Given the description of an element on the screen output the (x, y) to click on. 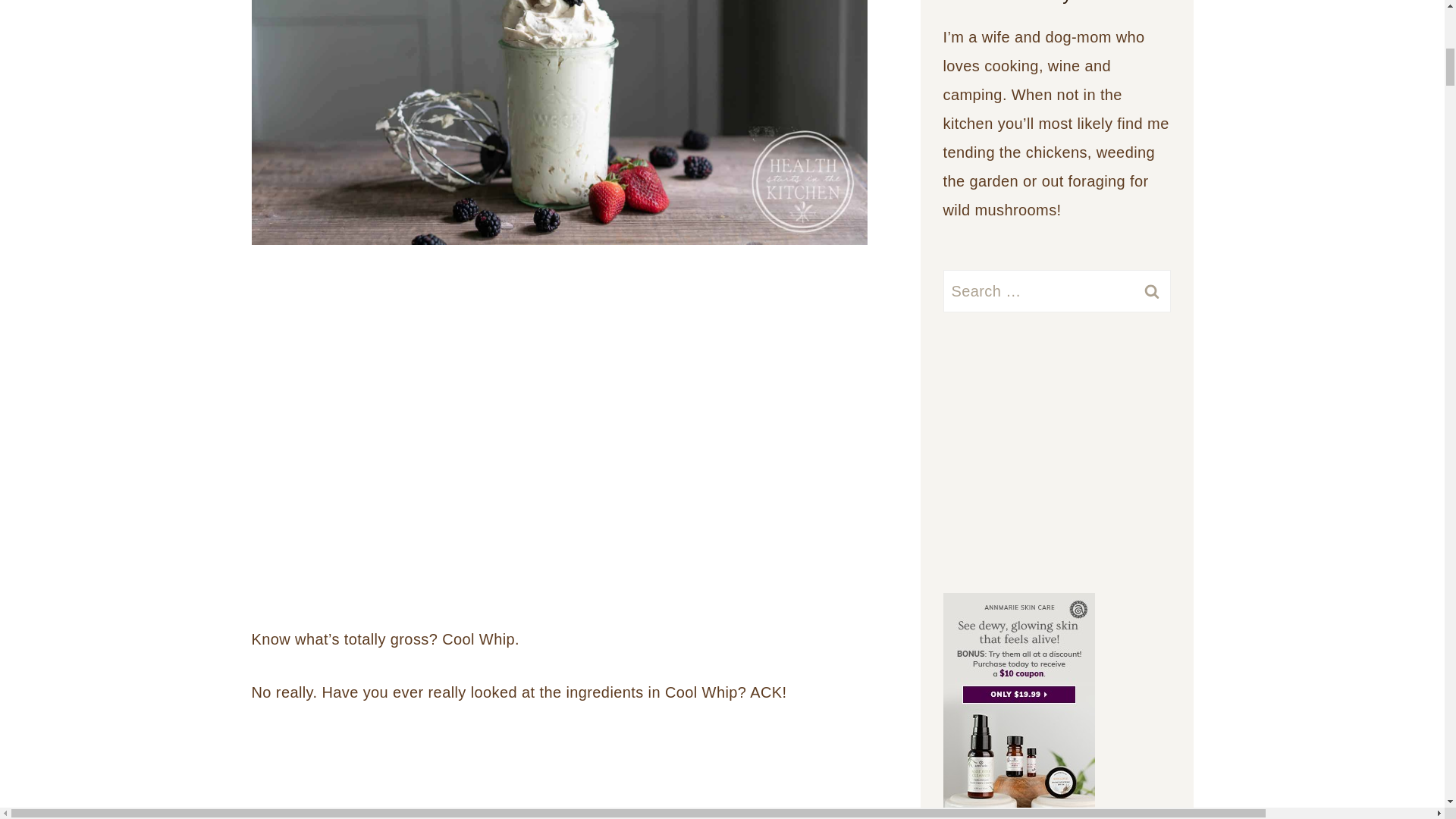
Search (1151, 291)
Search (1151, 291)
